Given the description of an element on the screen output the (x, y) to click on. 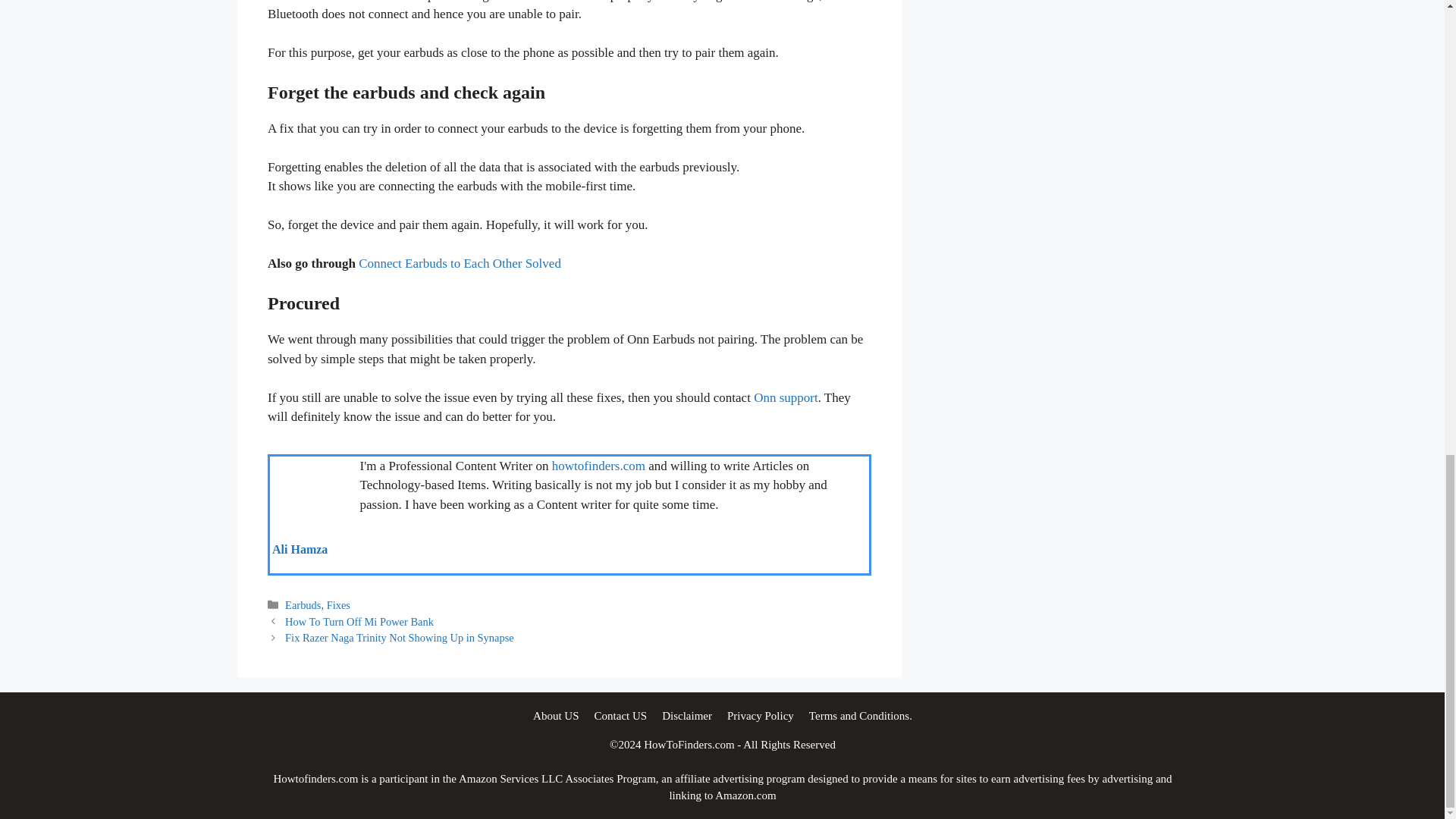
Ali Hamza (298, 549)
Fix Razer Naga Trinity Not Showing Up in Synapse (399, 637)
Onn support (786, 397)
How To Turn Off Mi Power Bank (359, 621)
Connect Earbuds to Each Other Solved (459, 264)
howtofinders.com (598, 465)
Scroll back to top (1406, 510)
Fixes (337, 604)
Bluetooth (304, 1)
Earbuds (302, 604)
